Given the description of an element on the screen output the (x, y) to click on. 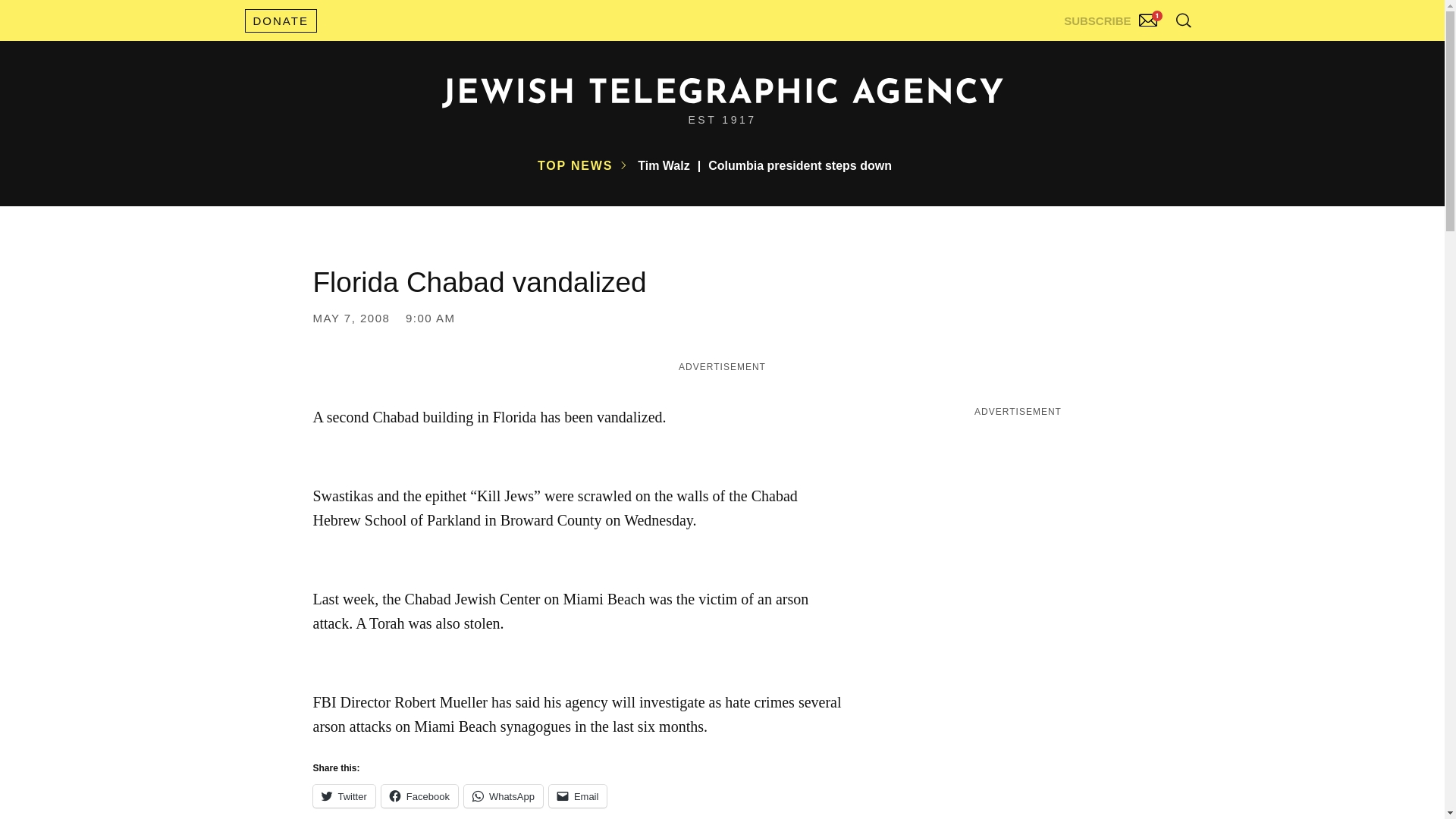
DONATE (279, 20)
Click to share on Twitter (343, 795)
SEARCH TOGGLESEARCH TOGGLE (1182, 20)
SUBSCRIBE (1112, 17)
Click to share on WhatsApp (503, 795)
Click to share on Facebook (419, 795)
Click to email a link to a friend (577, 795)
Search (1144, 53)
